Given the description of an element on the screen output the (x, y) to click on. 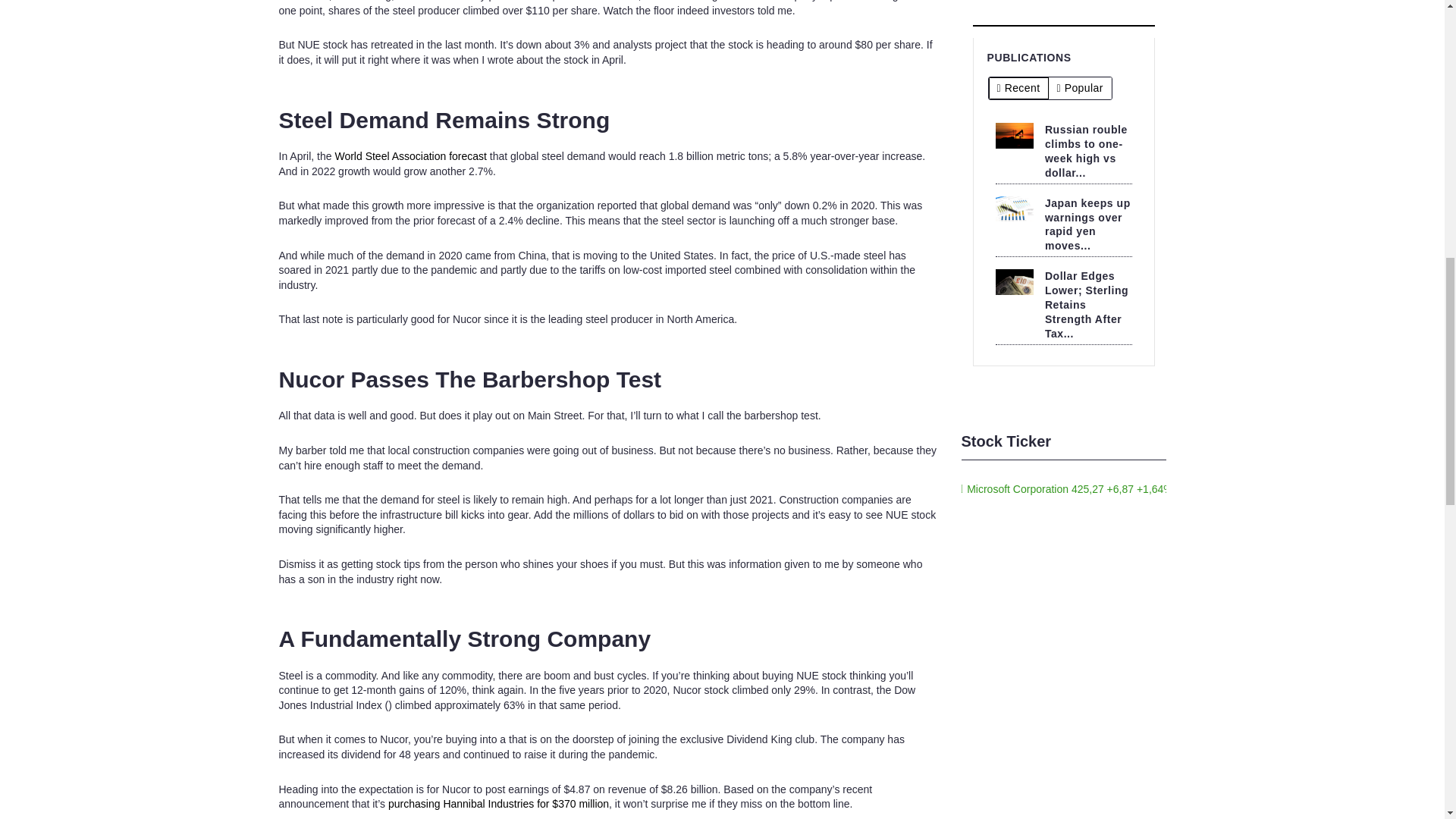
Russian rouble climbs to one-week high vs dollar... (1085, 151)
World Steel Association forecast (411, 155)
Dollar Edges Lower; Sterling Retains Strength After Tax... (1086, 304)
Japan keeps up warnings over rapid yen moves... (1088, 224)
